Given the description of an element on the screen output the (x, y) to click on. 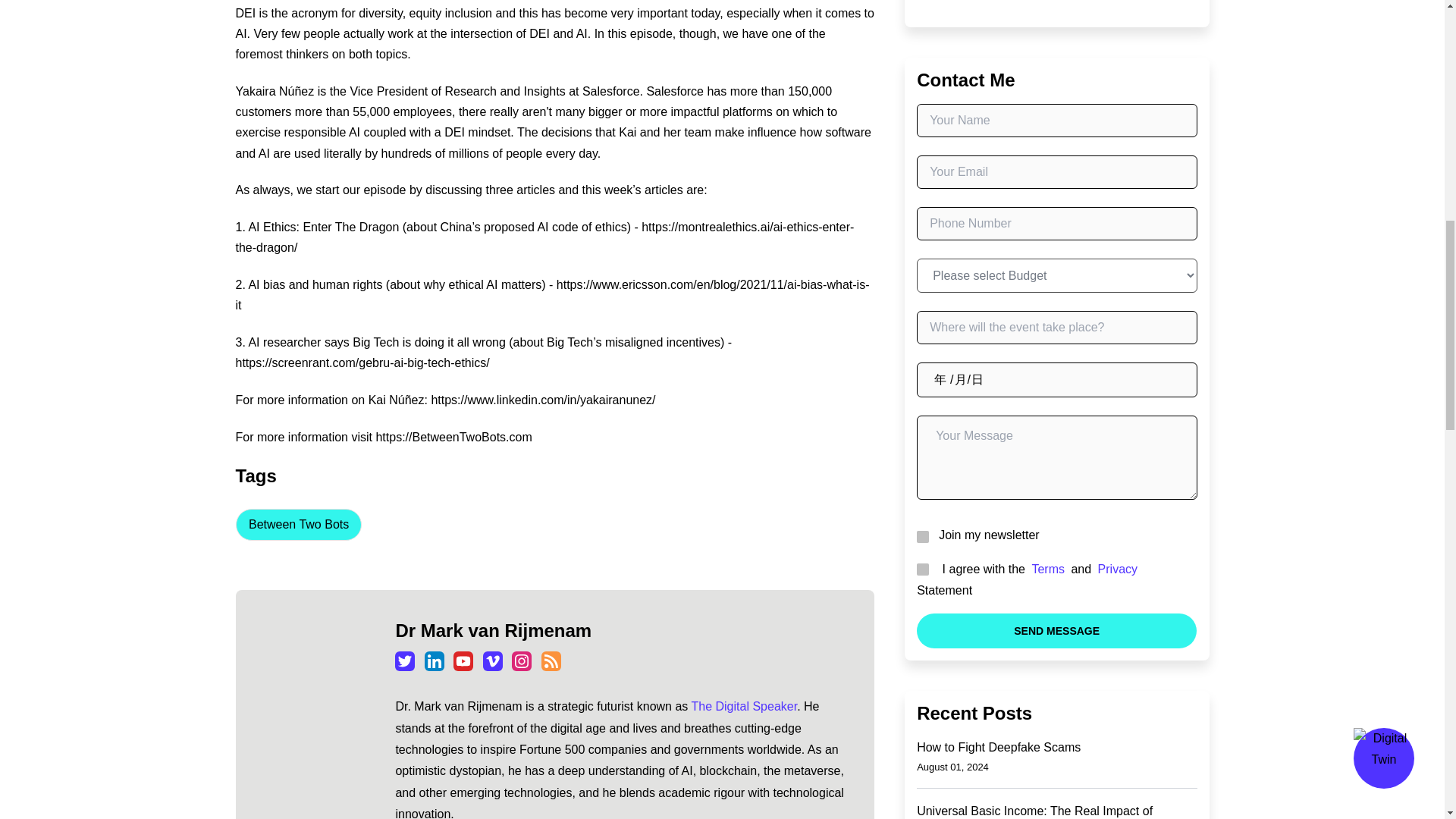
Linkedin (434, 660)
Yes (921, 535)
Between Two Bots (297, 524)
Twitter (404, 660)
Yes (921, 568)
